Given the description of an element on the screen output the (x, y) to click on. 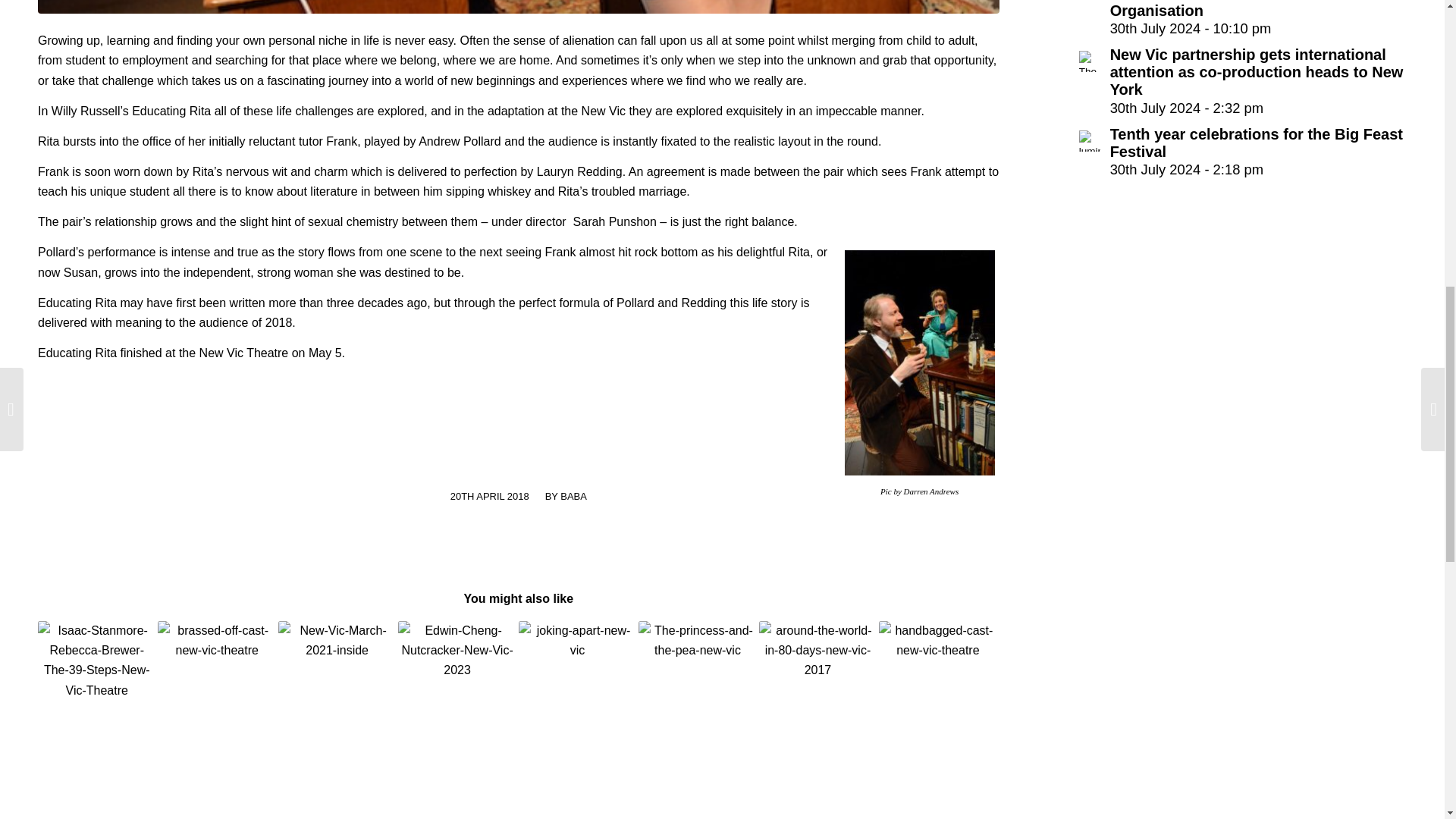
Andrew Pollard and Lauryn Redding Pic by Darren Andrews (517, 6)
The 39 Steps Review (96, 663)
Brassed Off Review (216, 652)
BABA (573, 496)
Kiln Associate Programme launched by New Vic (337, 660)
Posts by Baba (573, 496)
